Given the description of an element on the screen output the (x, y) to click on. 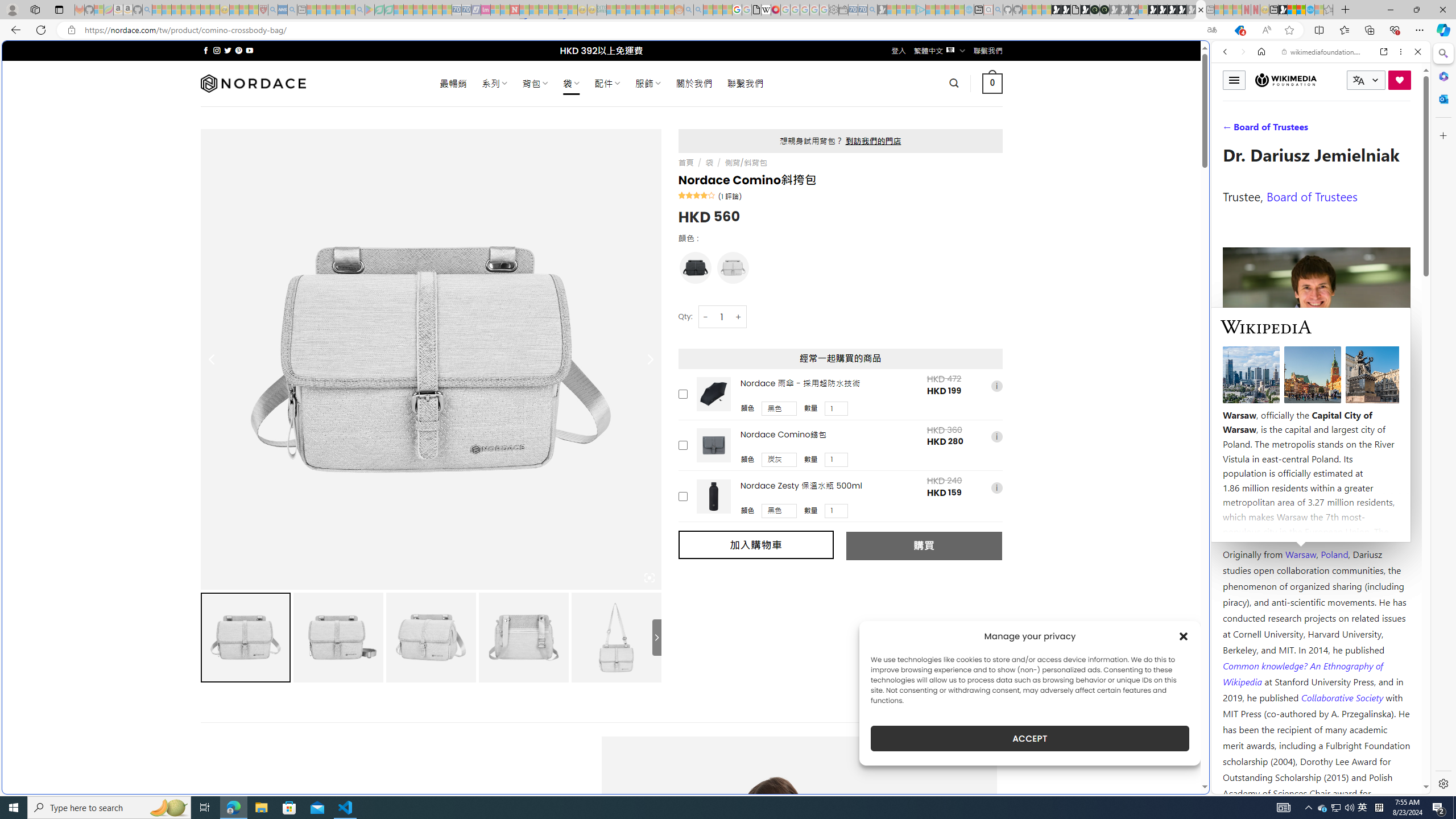
Favorites - Sleeping (1328, 9)
Play Zoo Boom in your browser | Games from Microsoft Start (1065, 9)
This site has coupons! Shopping in Microsoft Edge, 4 (1239, 29)
Services - Maintenance | Sky Blue Bikes - Sky Blue Bikes (1309, 9)
Future Focus Report 2024 (1103, 9)
